Given the description of an element on the screen output the (x, y) to click on. 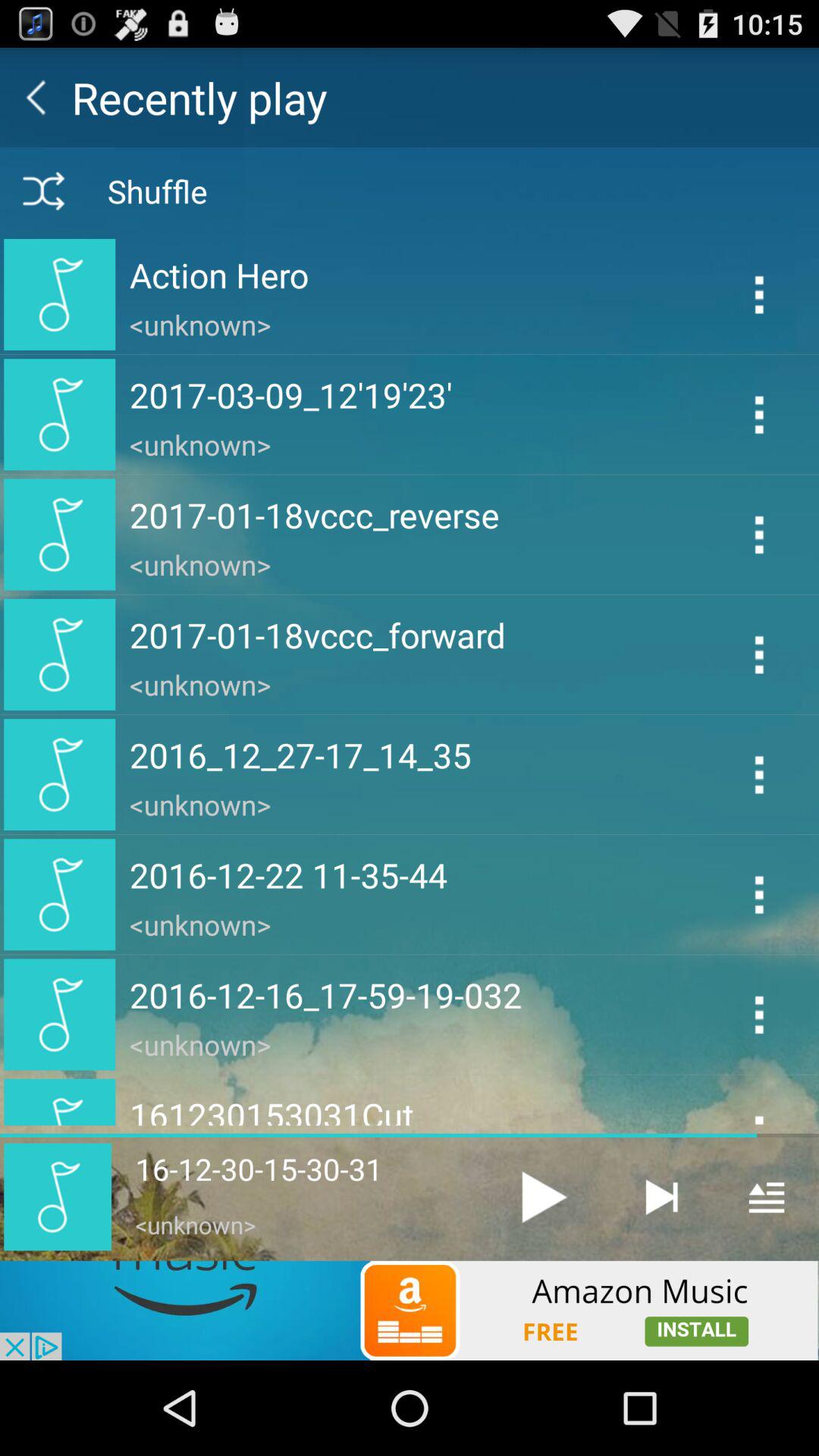
play the audio (543, 1197)
